Given the description of an element on the screen output the (x, y) to click on. 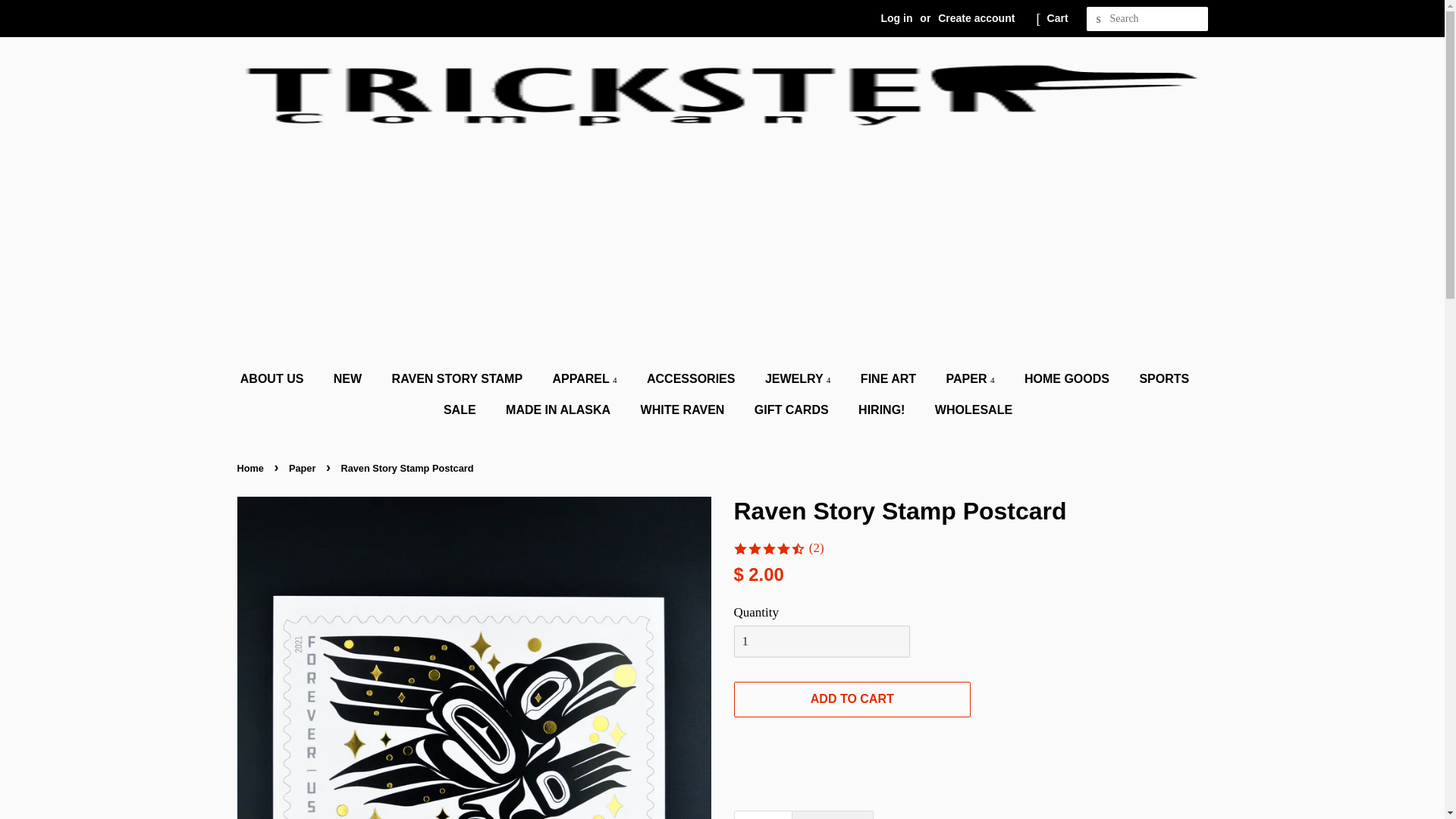
Cart (1057, 18)
Create account (975, 18)
Back to the frontpage (250, 468)
1 (821, 641)
SEARCH (1097, 18)
Log in (896, 18)
